Given the description of an element on the screen output the (x, y) to click on. 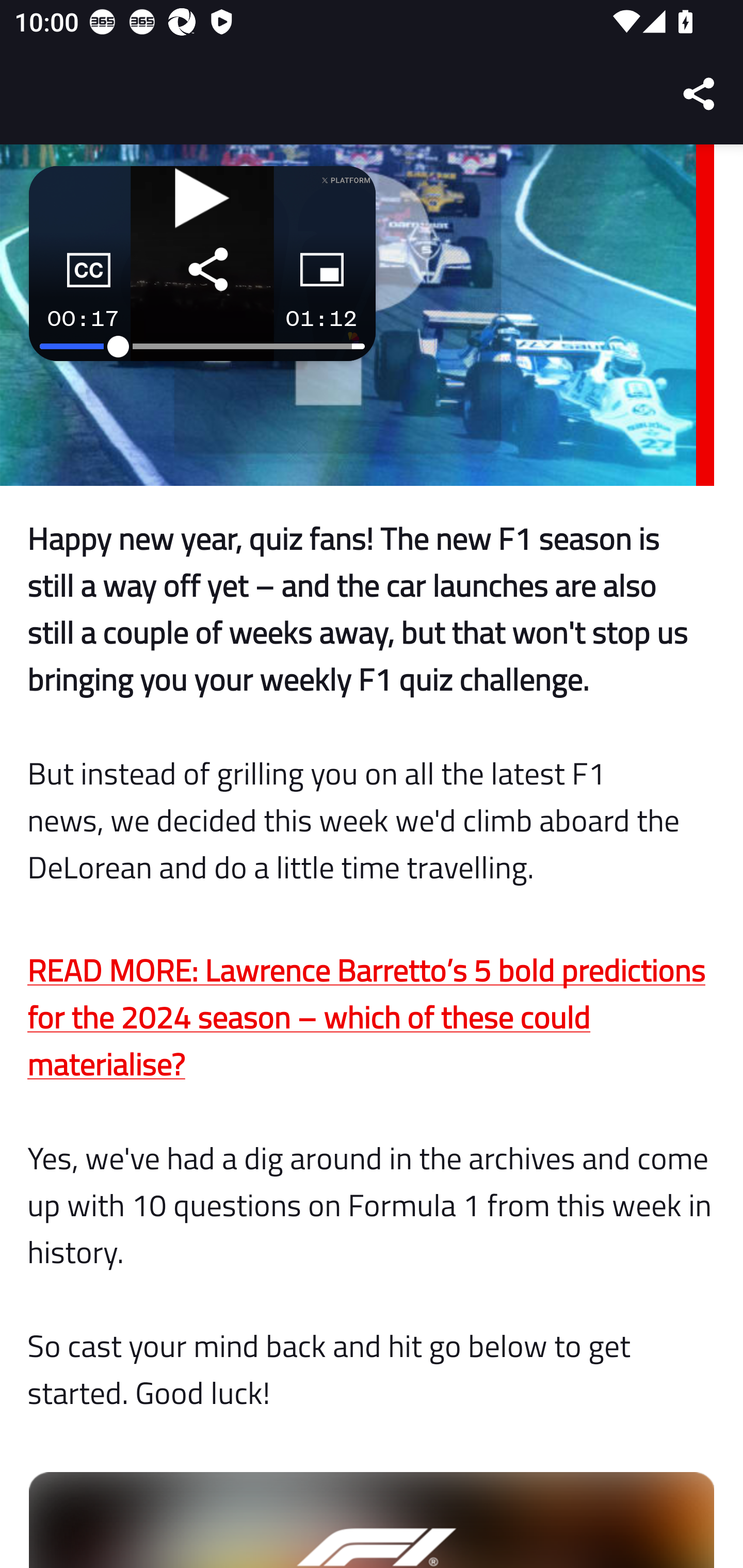
Share (699, 93)
